Given the description of an element on the screen output the (x, y) to click on. 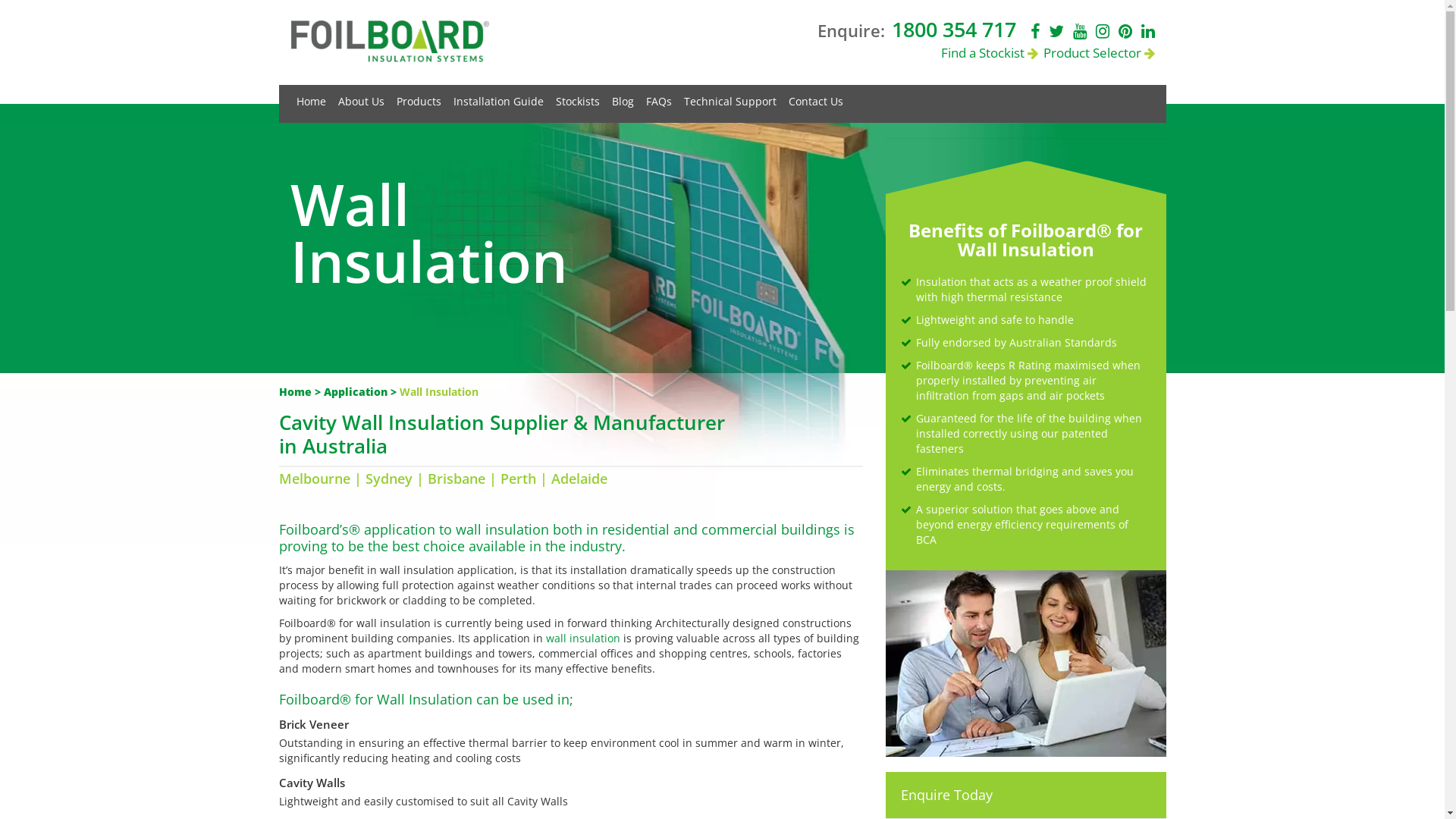
Home Element type: text (316, 96)
Contact Us Element type: text (821, 96)
About Us Element type: text (367, 96)
Home Element type: text (295, 391)
Blog Element type: text (628, 96)
1800 354 717 Element type: text (951, 29)
Product Selector Element type: text (1097, 52)
wall insulation Element type: text (583, 637)
Stockists Element type: text (583, 96)
Installation Guide Element type: text (504, 96)
Products Element type: text (423, 96)
Application Element type: text (354, 391)
Technical Support Element type: text (735, 96)
FAQs Element type: text (665, 96)
Find a Stockist Element type: text (989, 52)
